Given the description of an element on the screen output the (x, y) to click on. 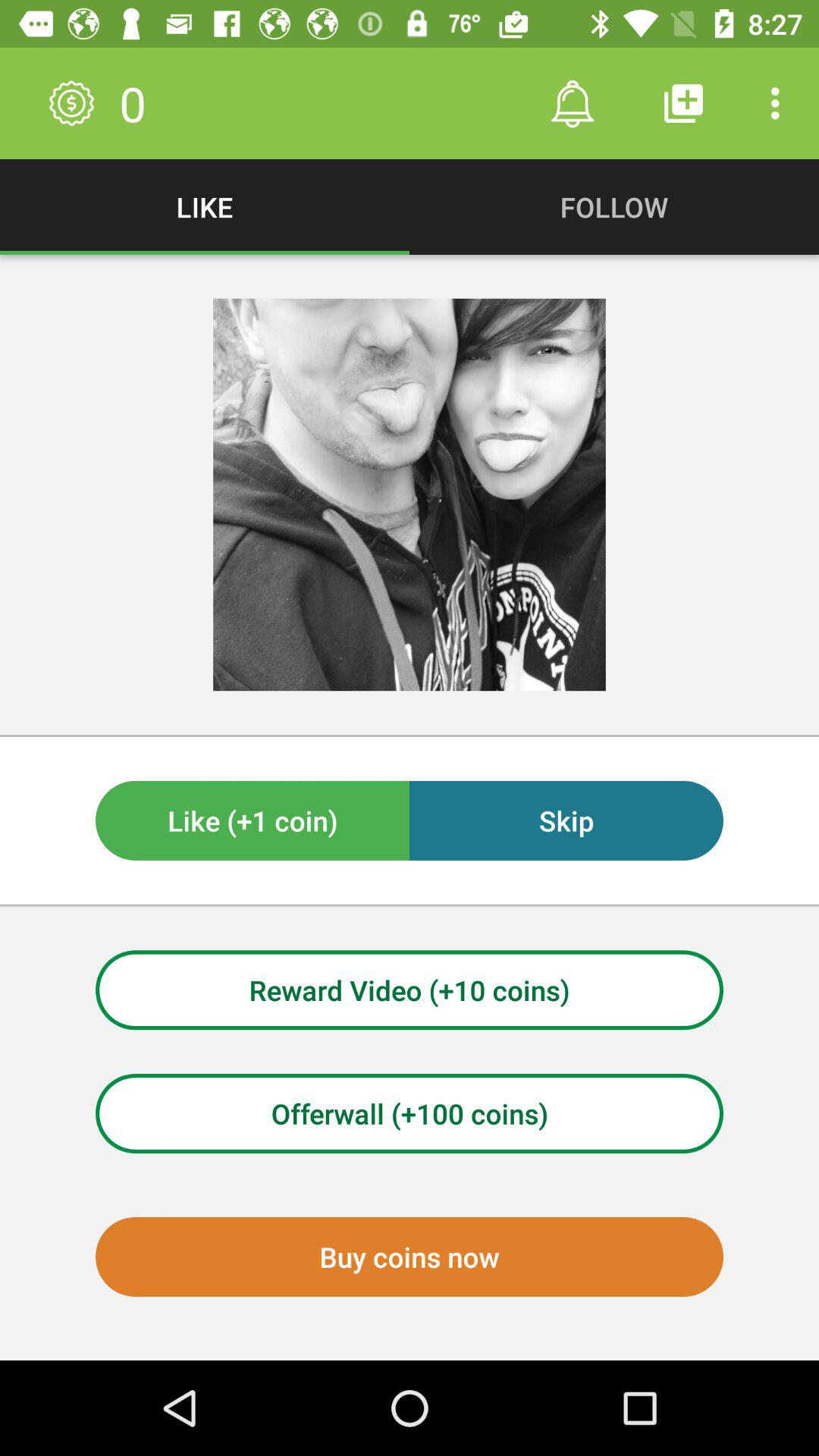
tap item next to the 0 item (571, 103)
